Given the description of an element on the screen output the (x, y) to click on. 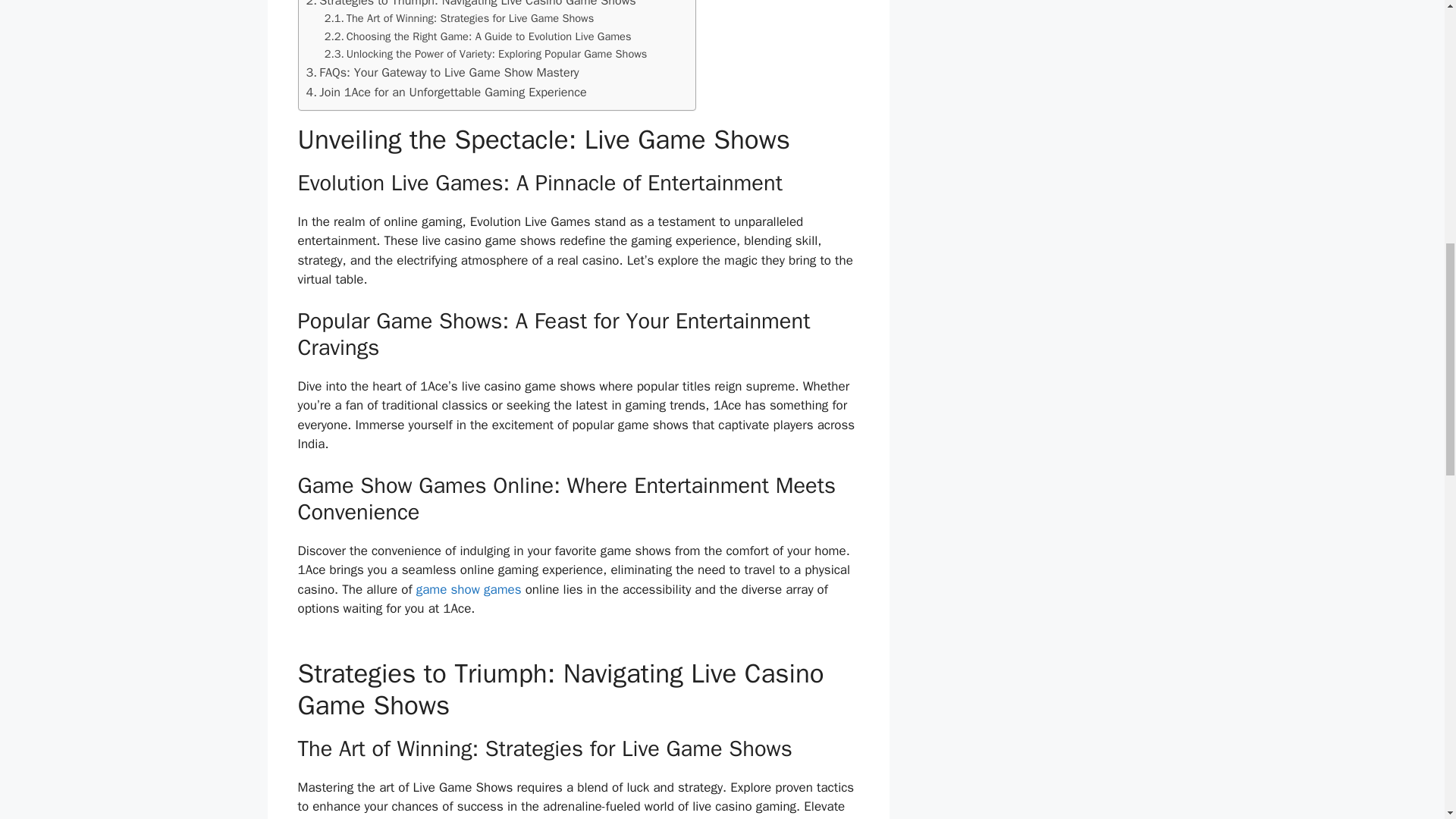
Unlocking the Power of Variety: Exploring Popular Game Shows (485, 54)
Choosing the Right Game: A Guide to Evolution Live Games (477, 36)
The Art of Winning: Strategies for Live Game Shows (459, 18)
FAQs: Your Gateway to Live Game Show Mastery (442, 72)
FAQs: Your Gateway to Live Game Show Mastery (442, 72)
game show games (468, 589)
The Art of Winning: Strategies for Live Game Shows (459, 18)
Join 1Ace for an Unforgettable Gaming Experience (445, 92)
Strategies to Triumph: Navigating Live Casino Game Shows (470, 5)
Strategies to Triumph: Navigating Live Casino Game Shows (470, 5)
Choosing the Right Game: A Guide to Evolution Live Games (477, 36)
Unlocking the Power of Variety: Exploring Popular Game Shows (485, 54)
Join 1Ace for an Unforgettable Gaming Experience (445, 92)
